Given the description of an element on the screen output the (x, y) to click on. 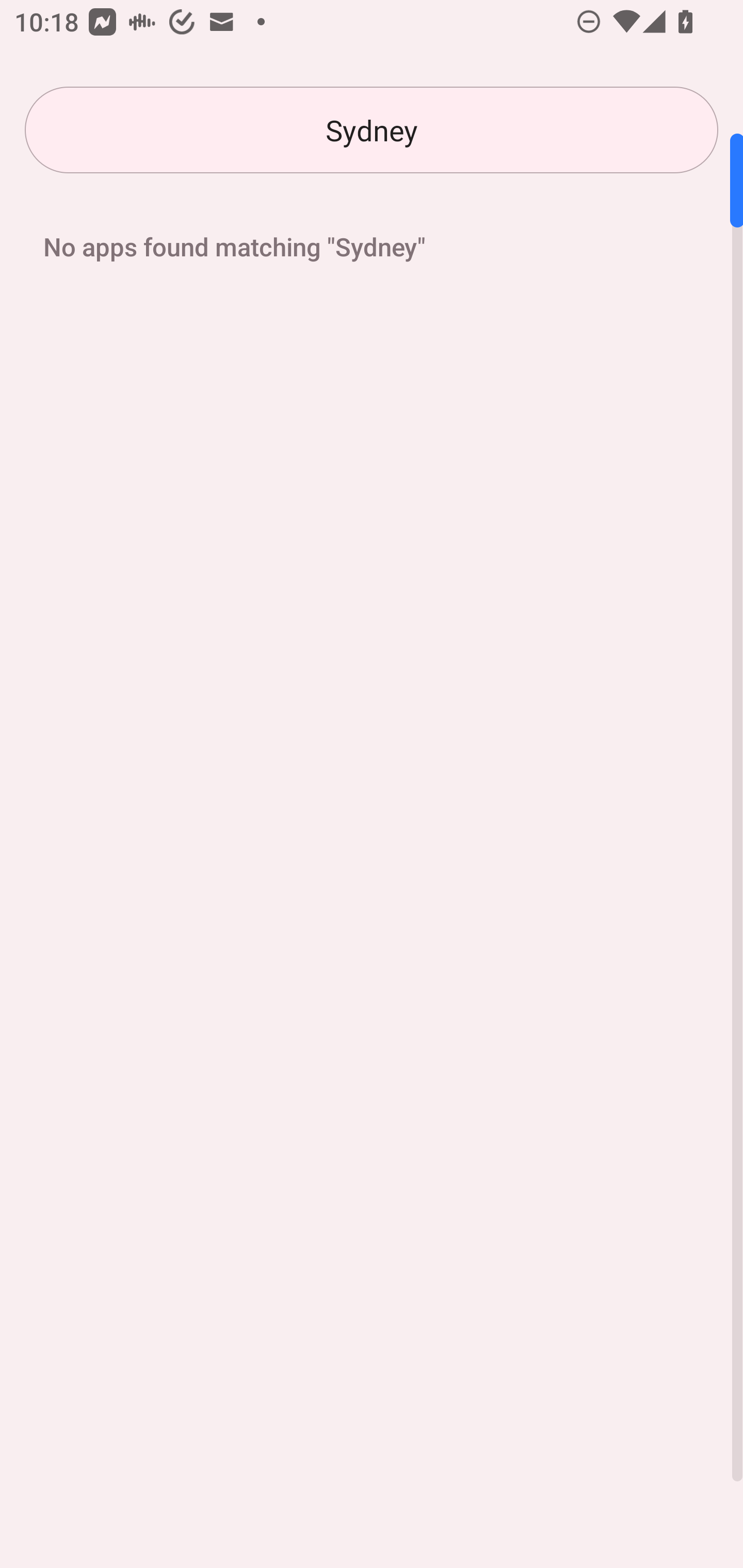
Sydney (371, 130)
